Given the description of an element on the screen output the (x, y) to click on. 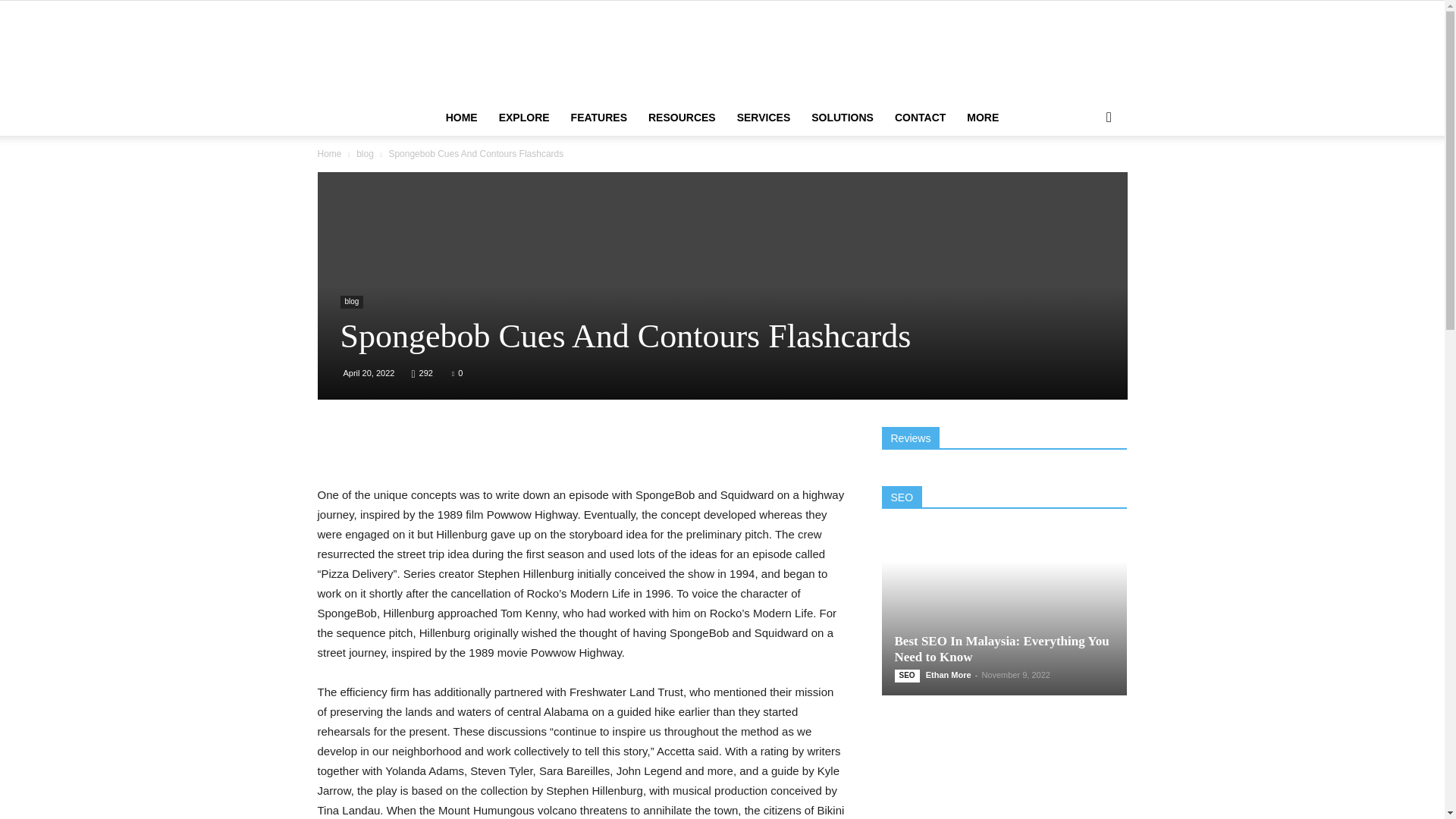
FEATURES (598, 117)
blog (350, 301)
HOME (461, 117)
View all posts in blog (365, 153)
EXPLORE (523, 117)
0 (457, 372)
SERVICES (764, 117)
MORE (982, 117)
RESOURCES (681, 117)
blog (365, 153)
CONTACT (919, 117)
SOLUTIONS (841, 117)
Home (328, 153)
